Given the description of an element on the screen output the (x, y) to click on. 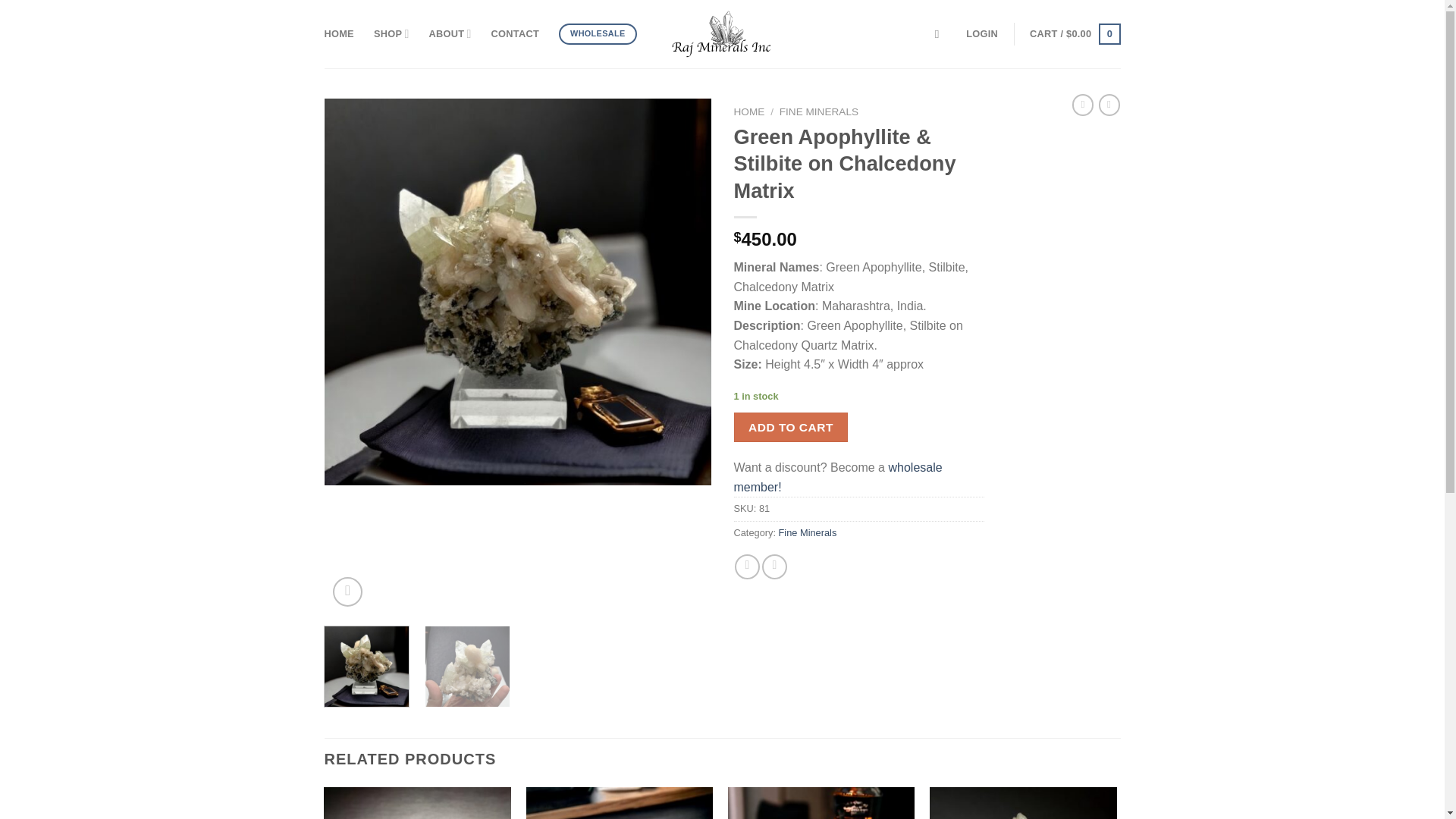
CONTACT (515, 33)
ADD TO CART (790, 427)
wholesale member! (837, 477)
LOGIN (981, 33)
Cart (1074, 34)
ABOUT (450, 33)
Email to a Friend (774, 566)
HOME (749, 111)
WHOLESALE (598, 34)
SHOP (391, 33)
FINE MINERALS (818, 111)
Fine Minerals (807, 532)
Zoom (347, 591)
Share on Facebook (747, 566)
Login (981, 33)
